Given the description of an element on the screen output the (x, y) to click on. 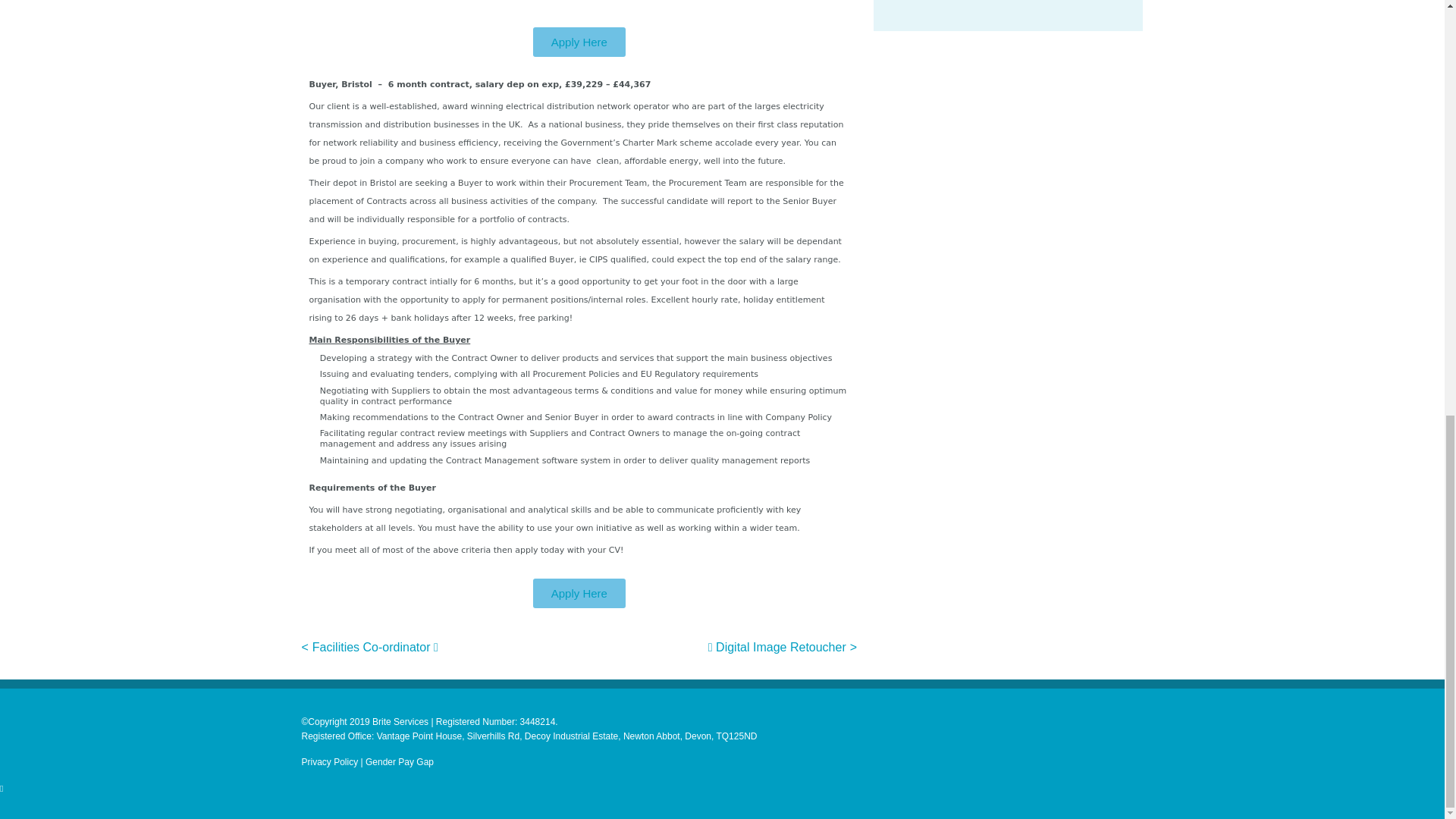
Apply Here (579, 41)
Gender Pay Gap (399, 761)
Facilities Co-ordinator (375, 646)
Apply Here (579, 593)
Privacy Policy (329, 761)
Digital Image Retoucher (776, 646)
